Given the description of an element on the screen output the (x, y) to click on. 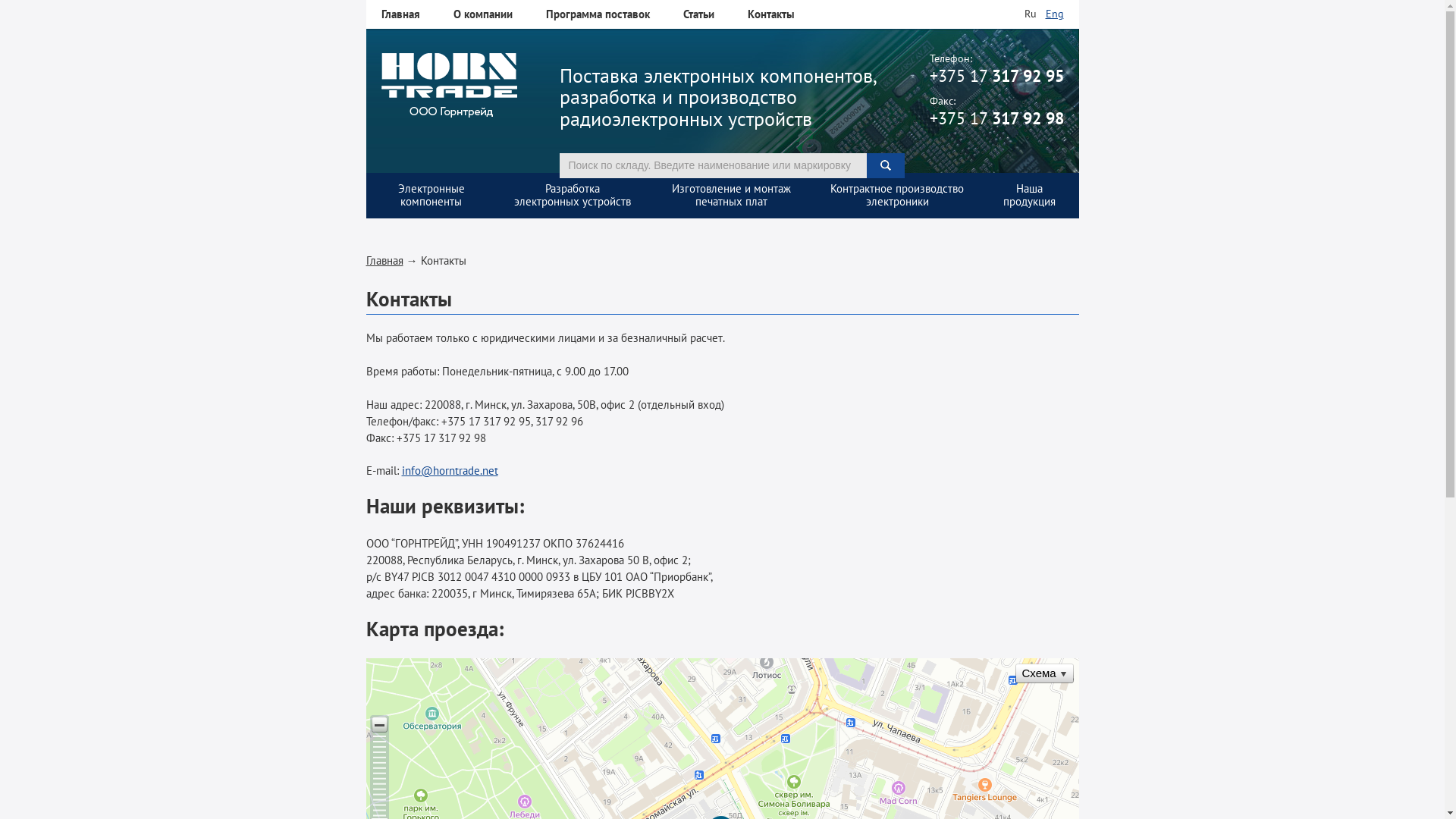
info@horntrade.net Element type: text (449, 470)
Eng Element type: text (1053, 13)
Ru Element type: text (1029, 13)
